Given the description of an element on the screen output the (x, y) to click on. 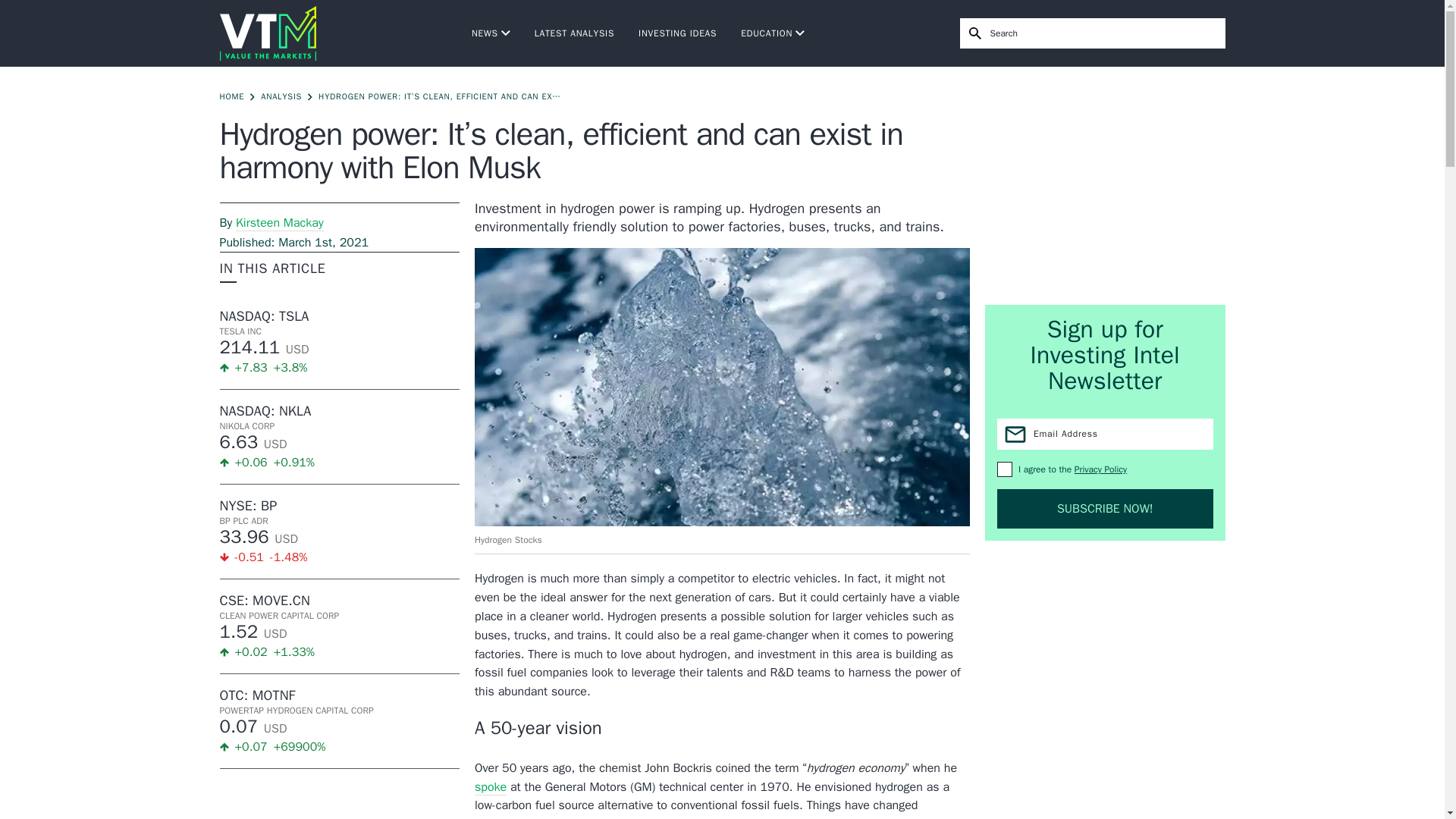
Advertisement (1105, 185)
HOME (231, 96)
spoke (490, 787)
NYSE: BP (339, 505)
LATEST ANALYSIS (574, 33)
NASDAQ: TSLA (339, 316)
OTC: MOTNF (339, 695)
ANALYSIS (280, 96)
INVESTING IDEAS (677, 33)
Yes (1004, 468)
